Given the description of an element on the screen output the (x, y) to click on. 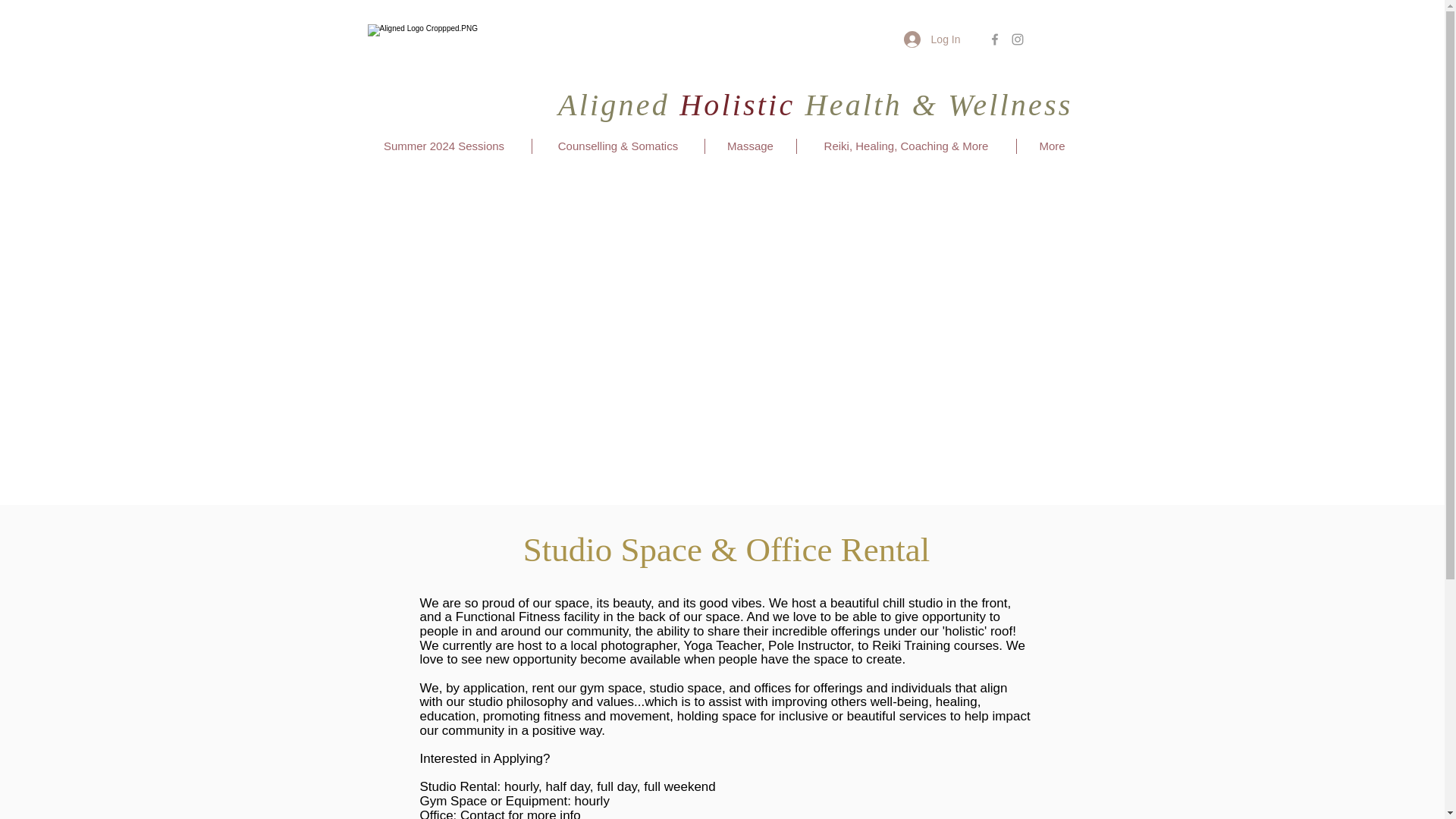
Summer 2024 Sessions (443, 145)
Log In (932, 39)
Massage (750, 145)
